Given the description of an element on the screen output the (x, y) to click on. 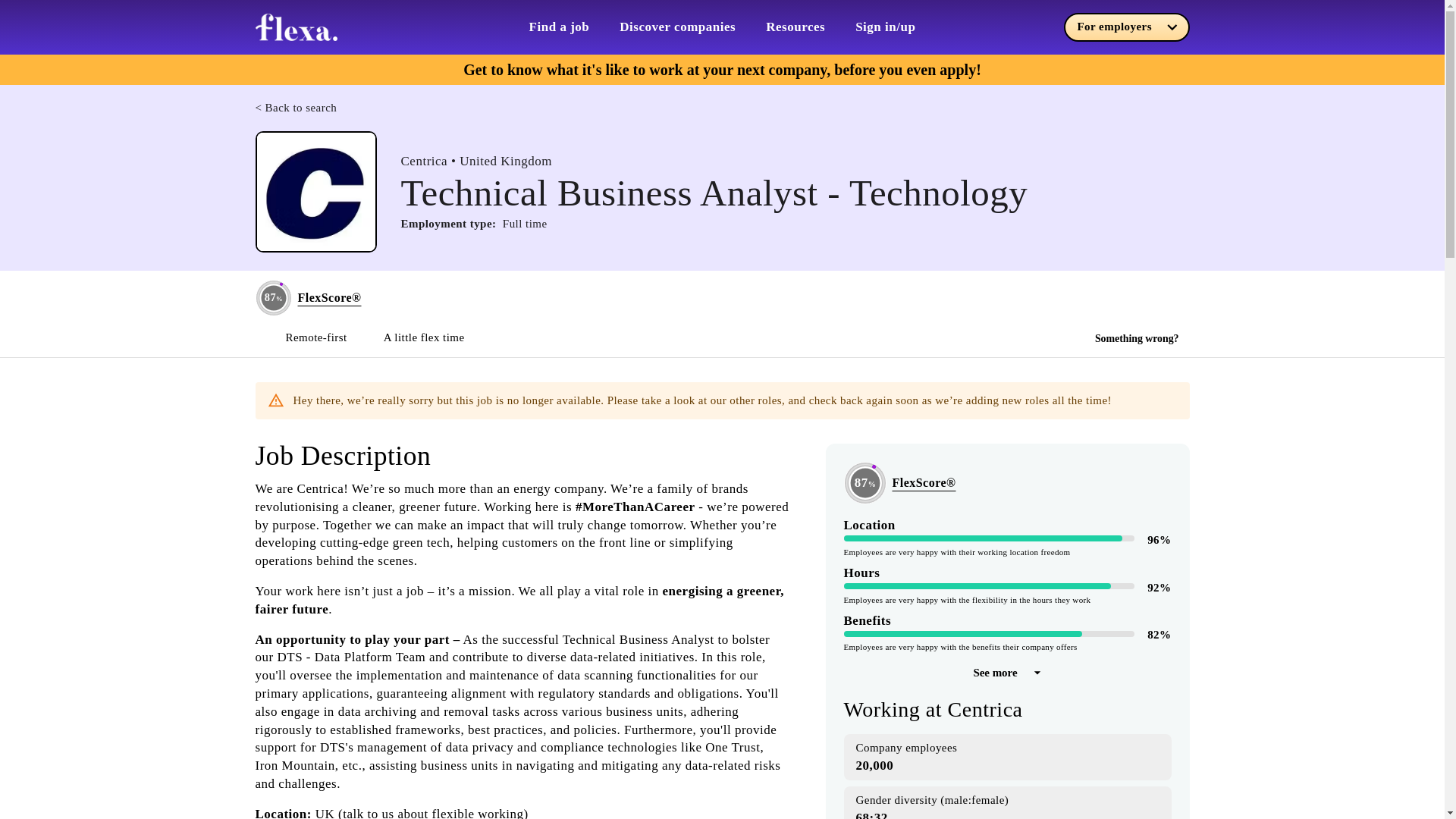
Something wrong? (1136, 339)
See more (1006, 672)
Resources (795, 27)
Find a job (559, 27)
Discover companies (677, 27)
For employers (1125, 27)
